Given the description of an element on the screen output the (x, y) to click on. 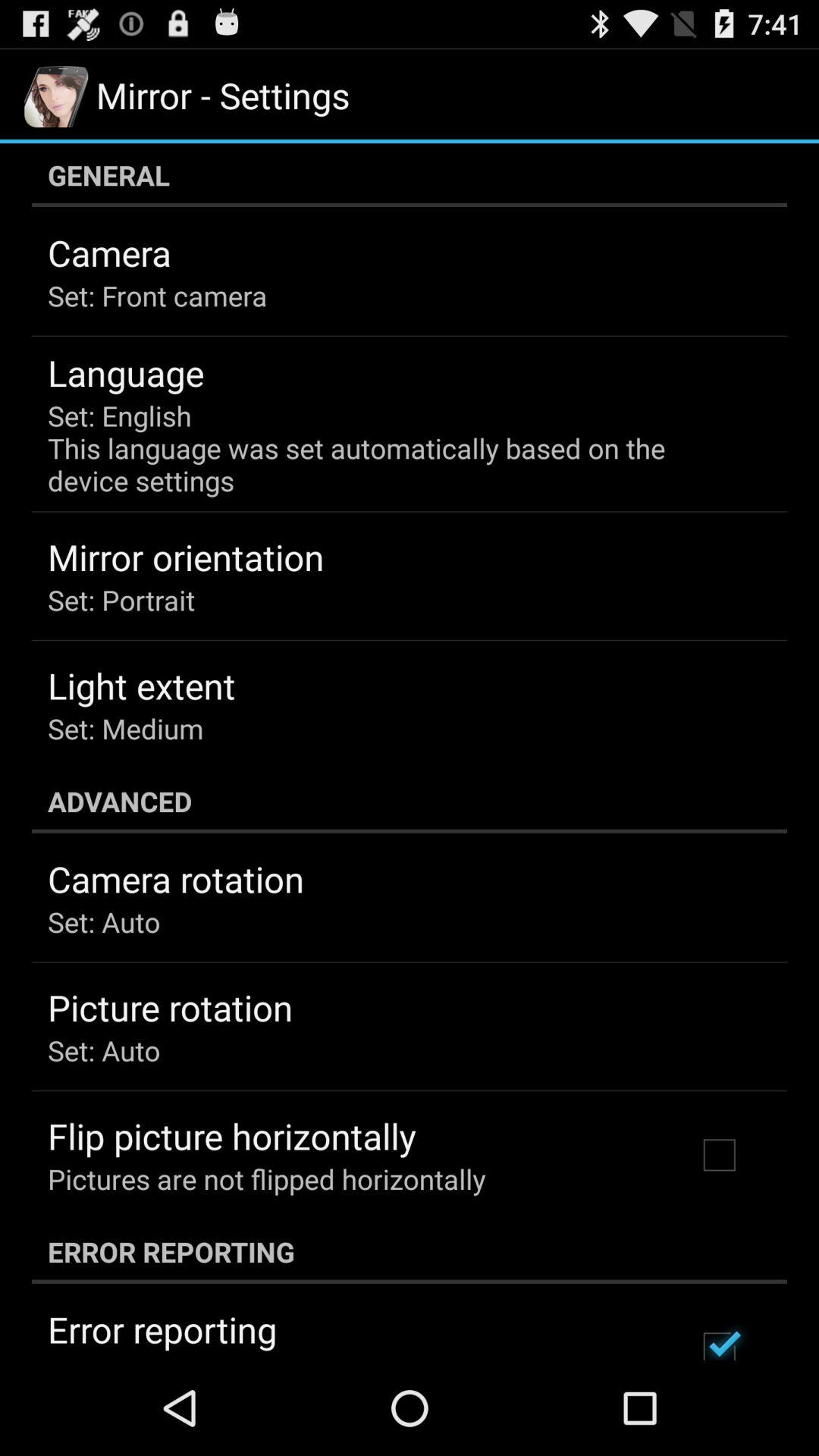
jump until the advanced icon (409, 801)
